Given the description of an element on the screen output the (x, y) to click on. 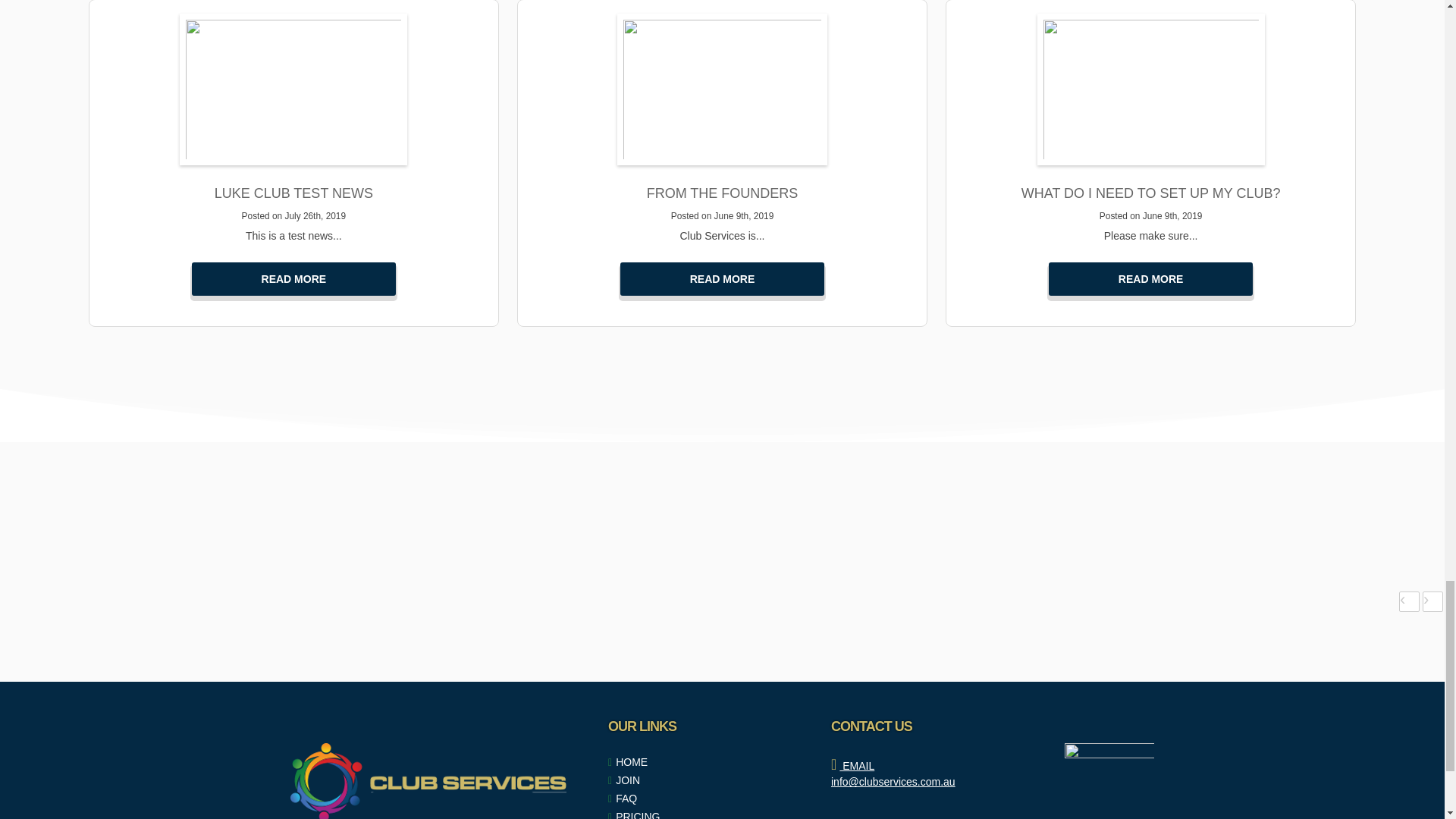
READ MORE (1150, 278)
READ MORE (294, 278)
READ MORE (722, 278)
